Given the description of an element on the screen output the (x, y) to click on. 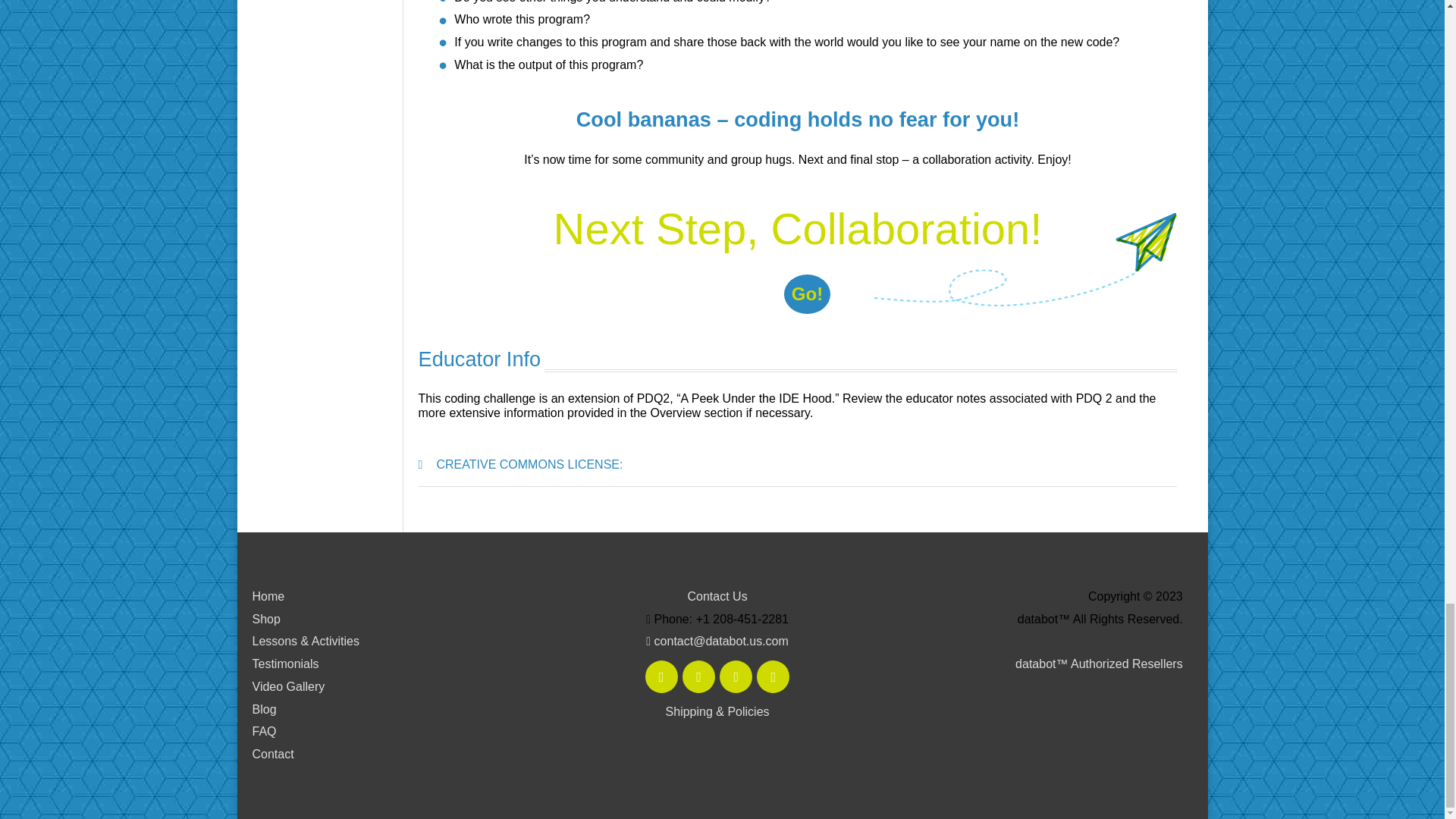
Twitter (698, 676)
Shop (265, 618)
Facebook (661, 676)
CREATIVE COMMONS LICENSE: (529, 463)
Contact (272, 753)
Video Gallery (287, 686)
Home (267, 595)
Blog (263, 708)
Instagram (735, 676)
Testimonials (284, 663)
